Given the description of an element on the screen output the (x, y) to click on. 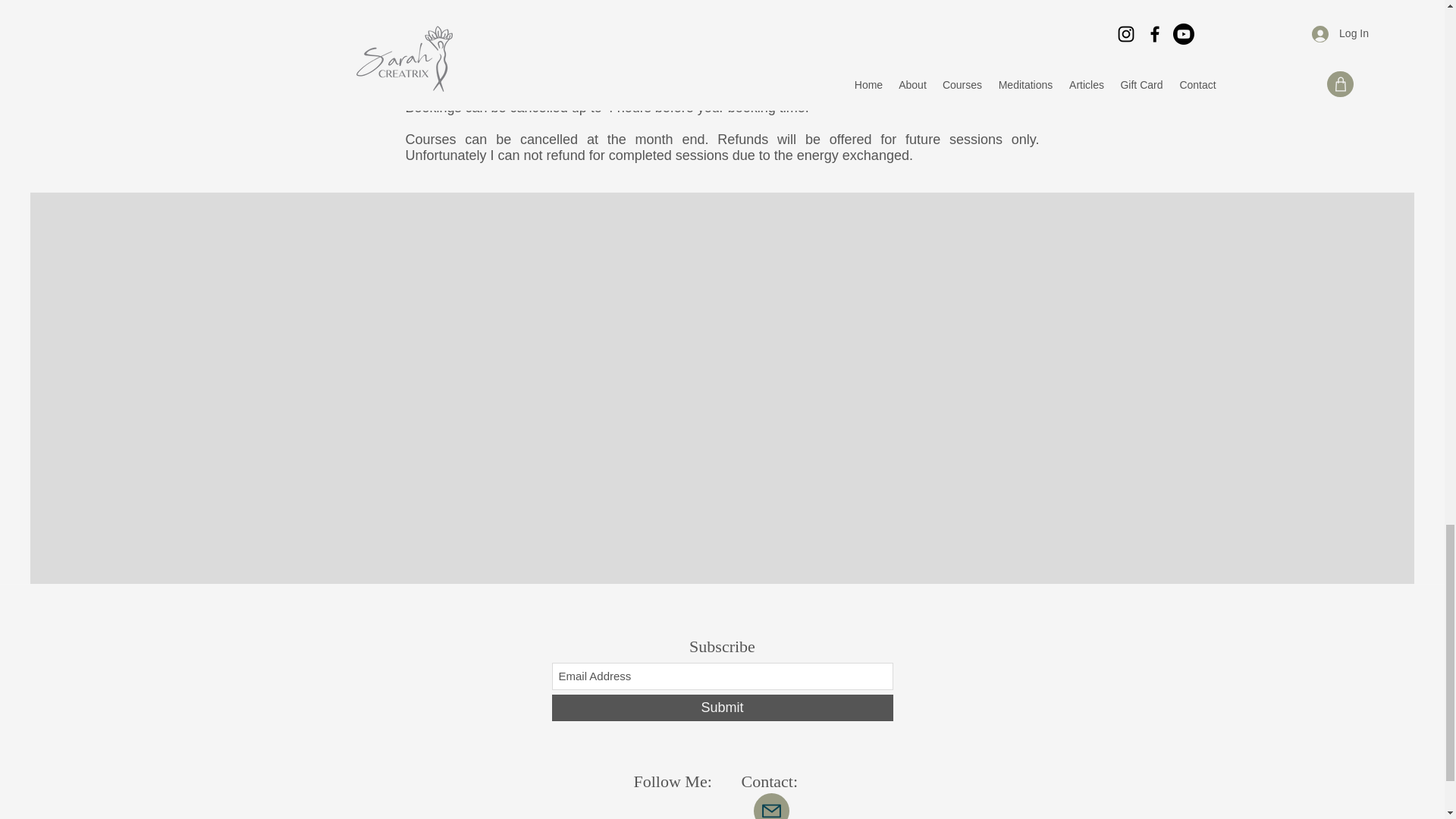
Submit (722, 707)
